Given the description of an element on the screen output the (x, y) to click on. 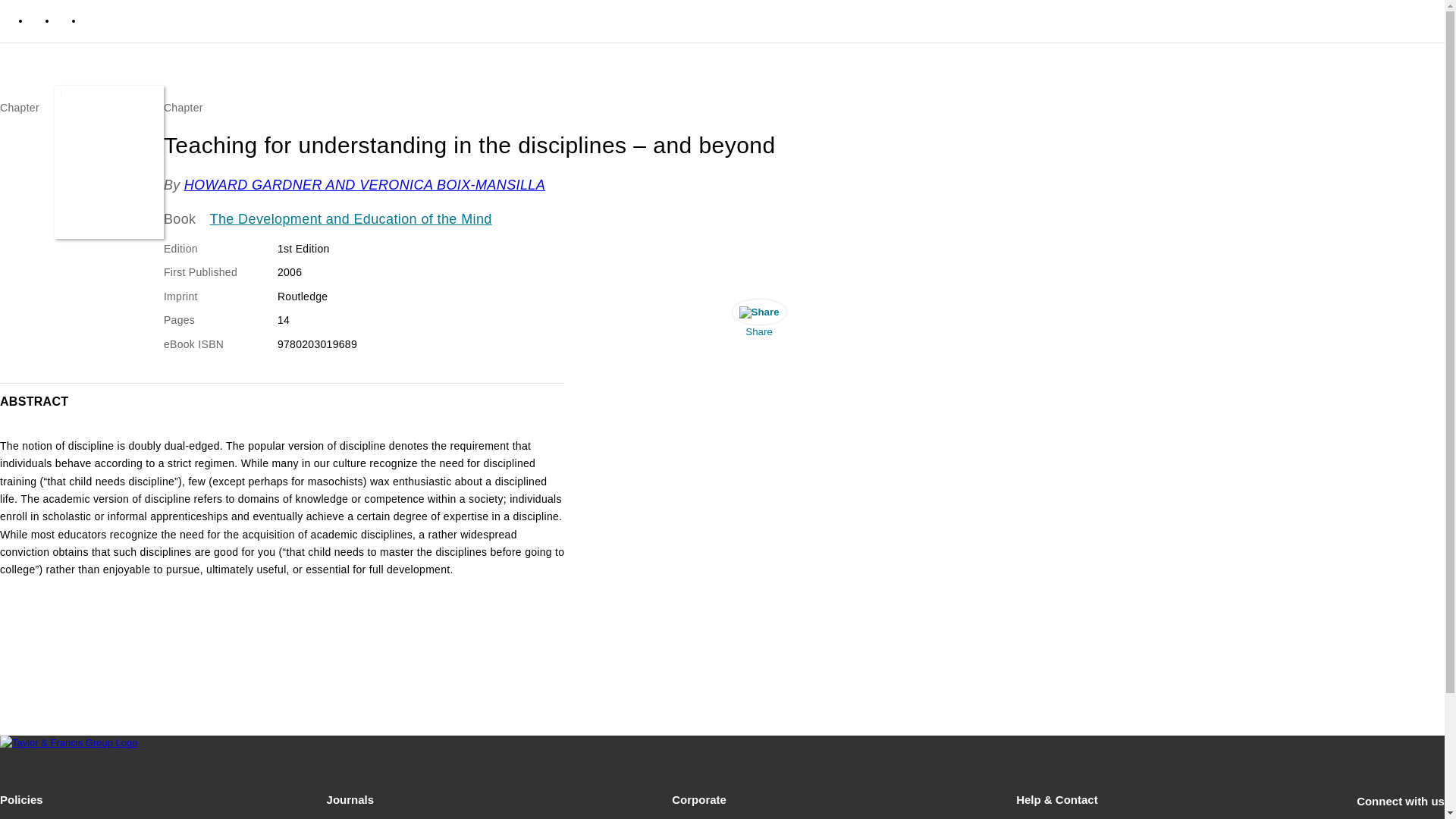
The Development and Education of the Mind (350, 219)
HOWARD GARDNER AND VERONICA BOIX-MANSILLA (364, 184)
Share (759, 321)
